Given the description of an element on the screen output the (x, y) to click on. 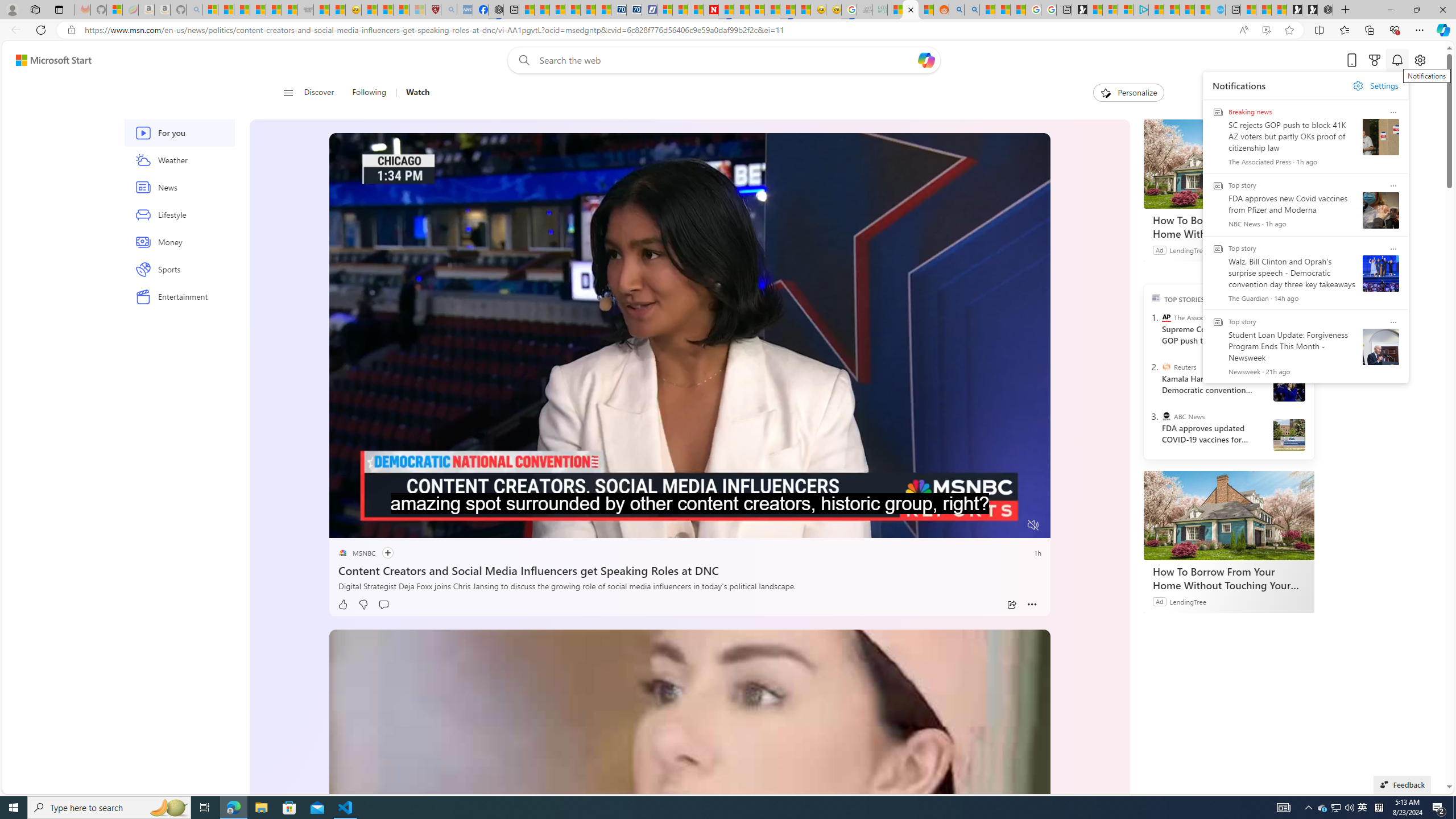
More (1031, 604)
